Given the description of an element on the screen output the (x, y) to click on. 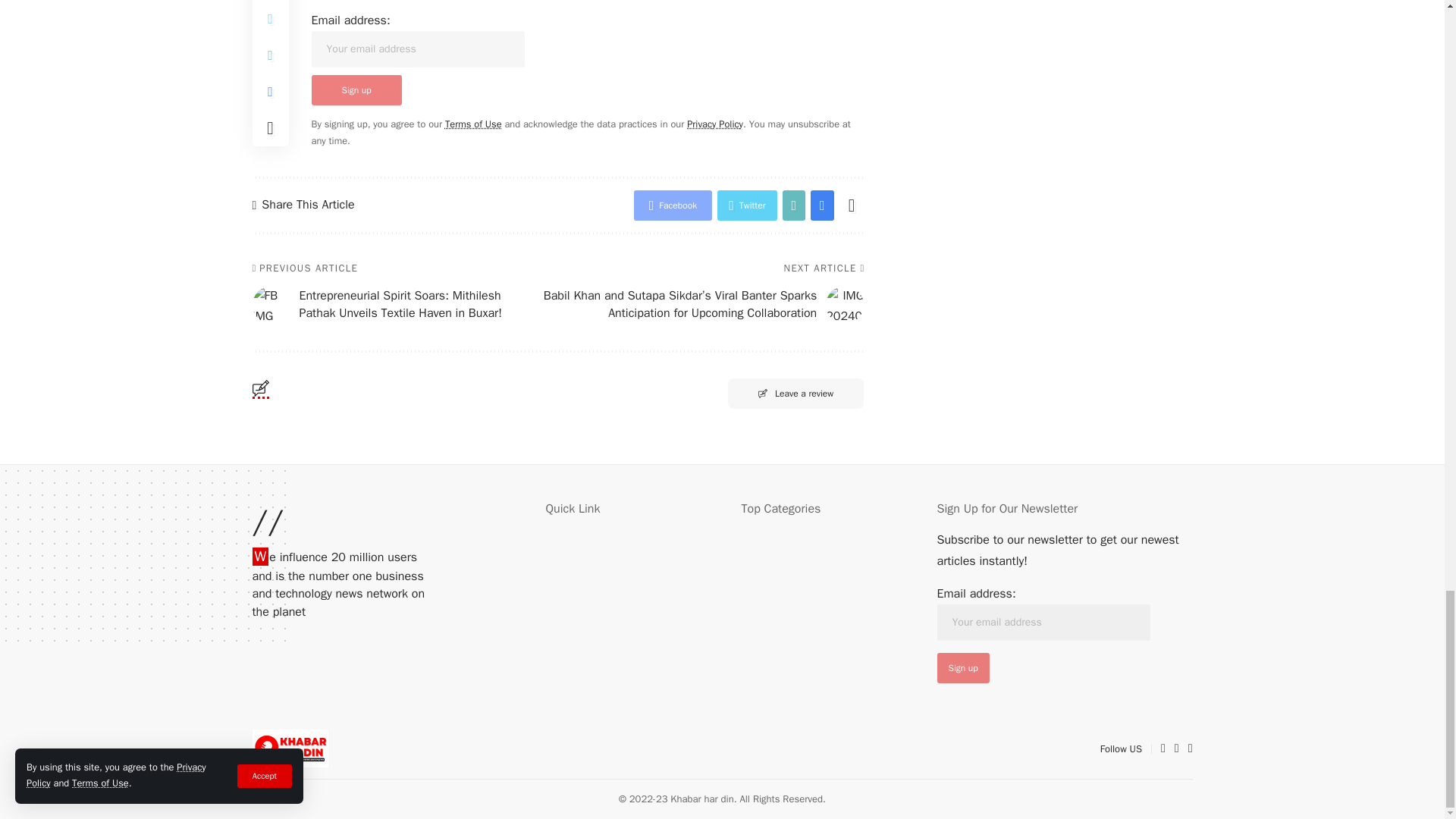
Sign up (356, 90)
Sign up (963, 667)
